Given the description of an element on the screen output the (x, y) to click on. 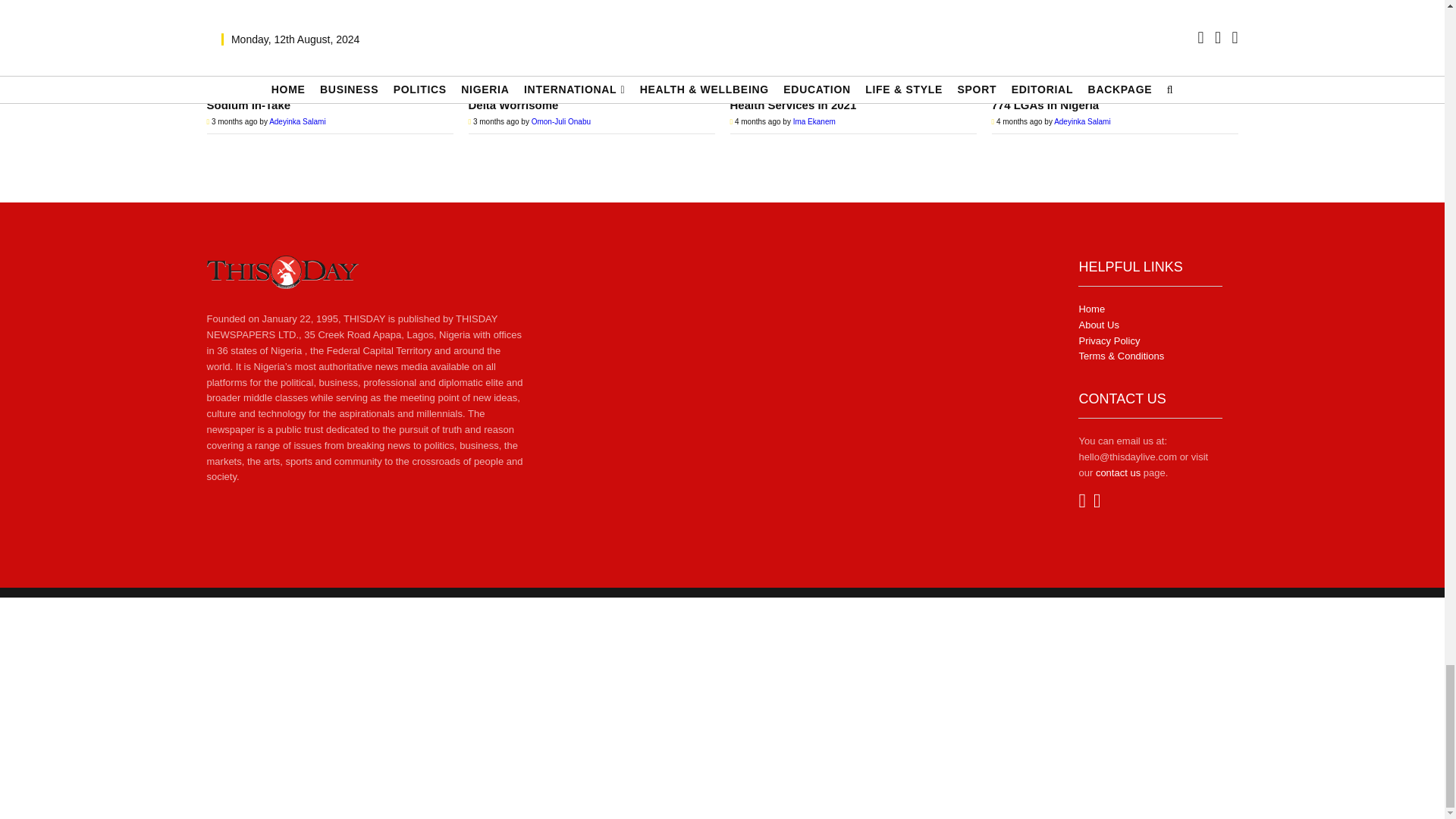
Posts by Adeyinka Salami (296, 121)
Posts by Omon-Juli Onabu (561, 121)
WHO: Increase in Teenage Pregnancy in Delta Worrisome (591, 32)
Posts by Adeyinka Salami (1081, 121)
WHO, PSHAN to Establish Standard PHCs in 774 LGAs in Nigeria (1115, 32)
Posts by Ima Ekanem (814, 121)
